Given the description of an element on the screen output the (x, y) to click on. 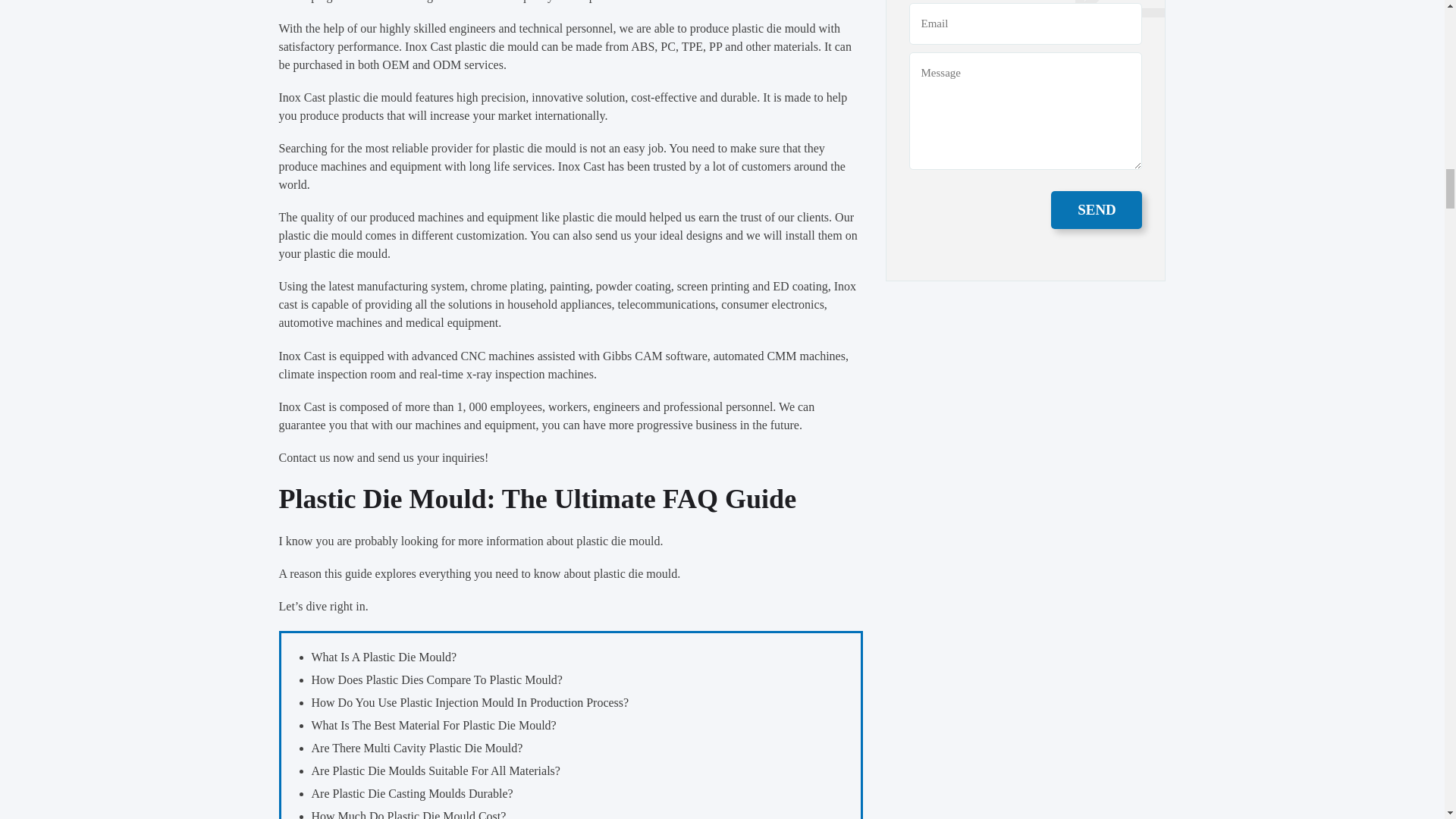
SEND (1096, 209)
